Given the description of an element on the screen output the (x, y) to click on. 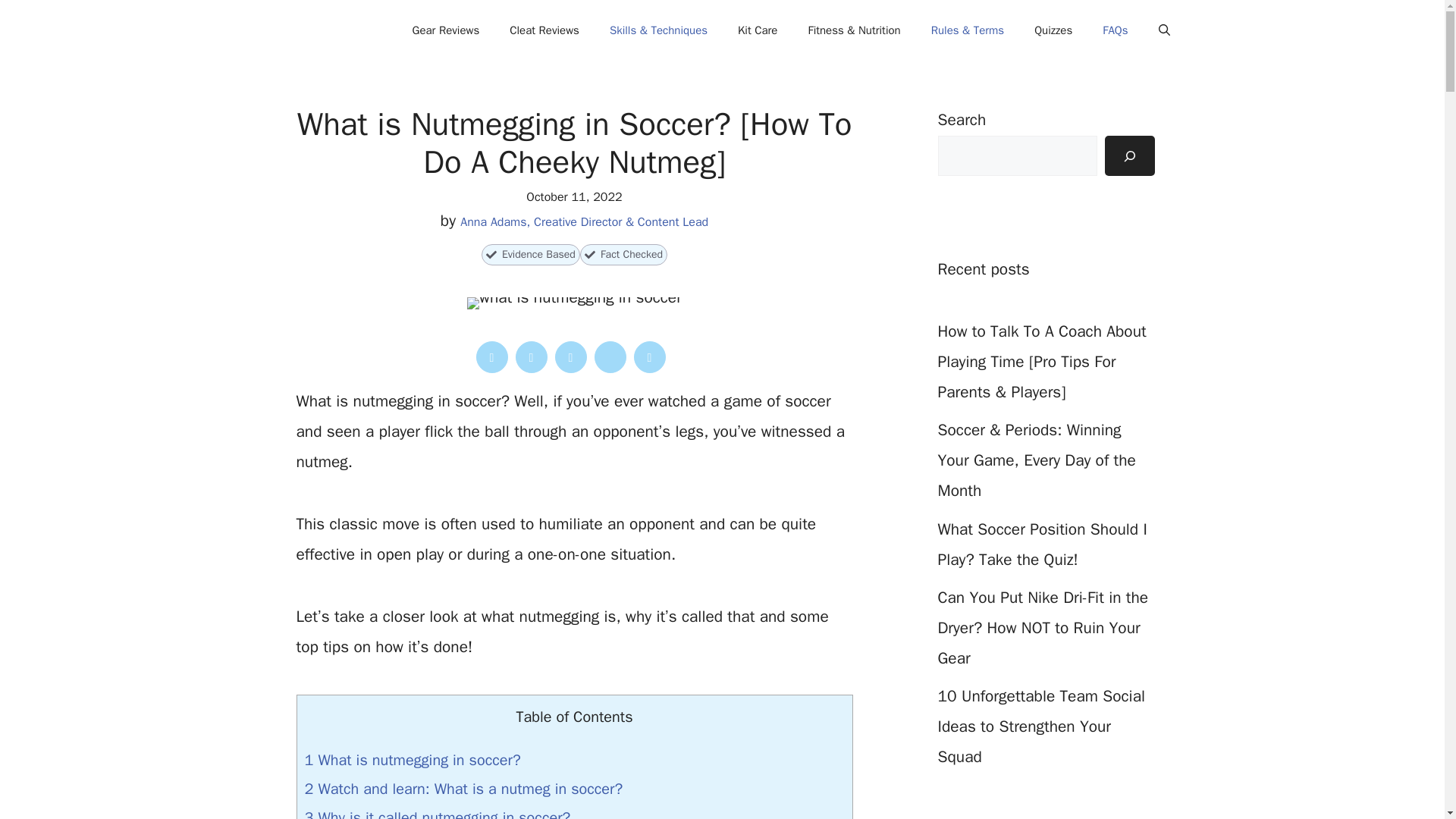
2 Watch and learn: What is a nutmeg in soccer? (463, 788)
Cleat Reviews (544, 30)
Quizzes (1053, 30)
3 Why is it called nutmegging in soccer? (437, 813)
Kit Care (757, 30)
1 What is nutmegging in soccer? (412, 760)
Gear Reviews (446, 30)
Kit Queen (309, 30)
FAQs (1114, 30)
